Given the description of an element on the screen output the (x, y) to click on. 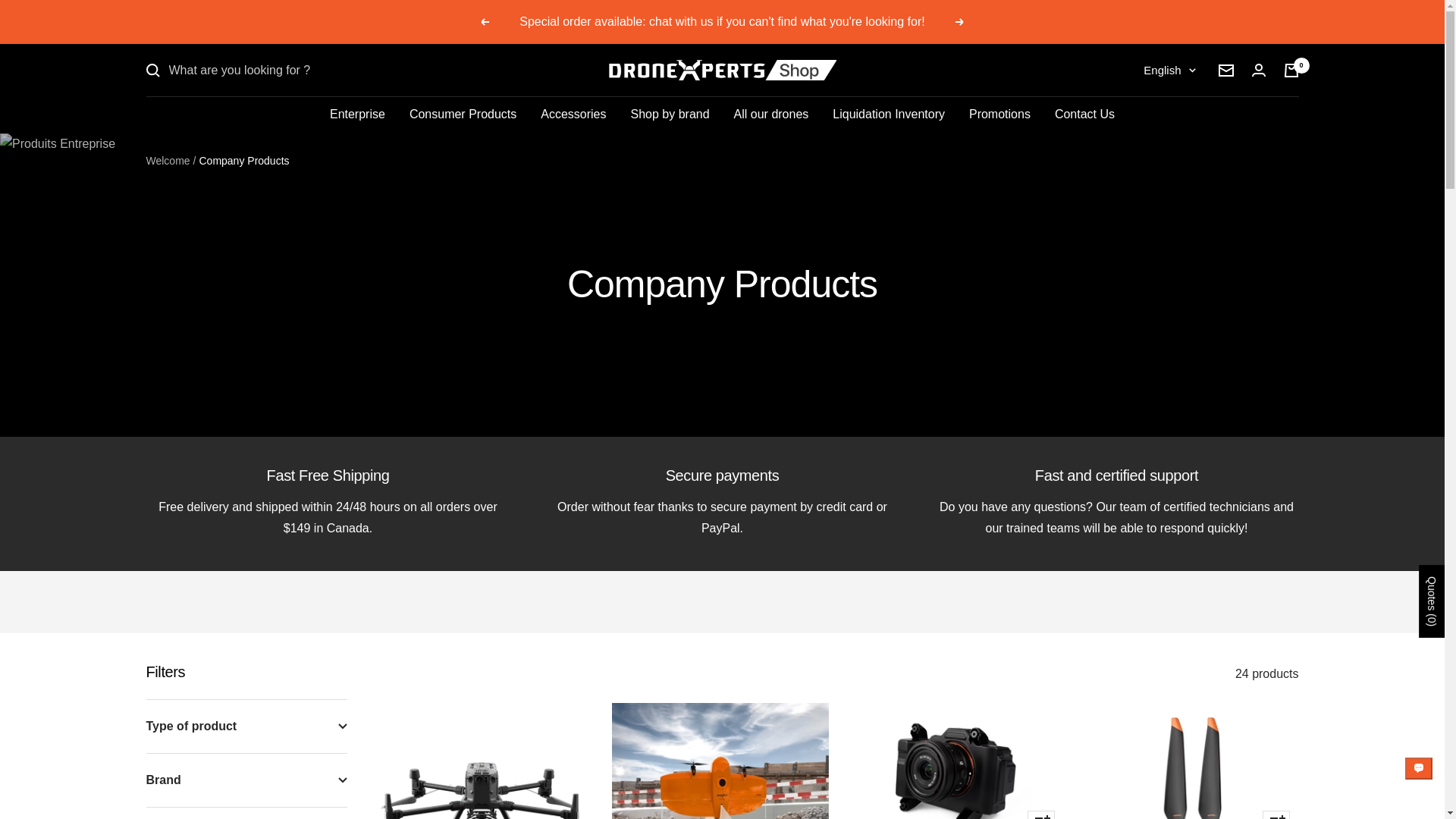
Shop by brand (670, 114)
Following (959, 21)
Price (245, 813)
Accessories (572, 114)
All our drones (771, 114)
DroneXperts (721, 69)
Brand (245, 779)
Liquidation Inventory (888, 114)
Enterprise (357, 114)
Newsletter (1225, 69)
0 (1290, 69)
Consumer Products (462, 114)
Type of product (245, 726)
en (1159, 149)
fr (1159, 123)
